Given the description of an element on the screen output the (x, y) to click on. 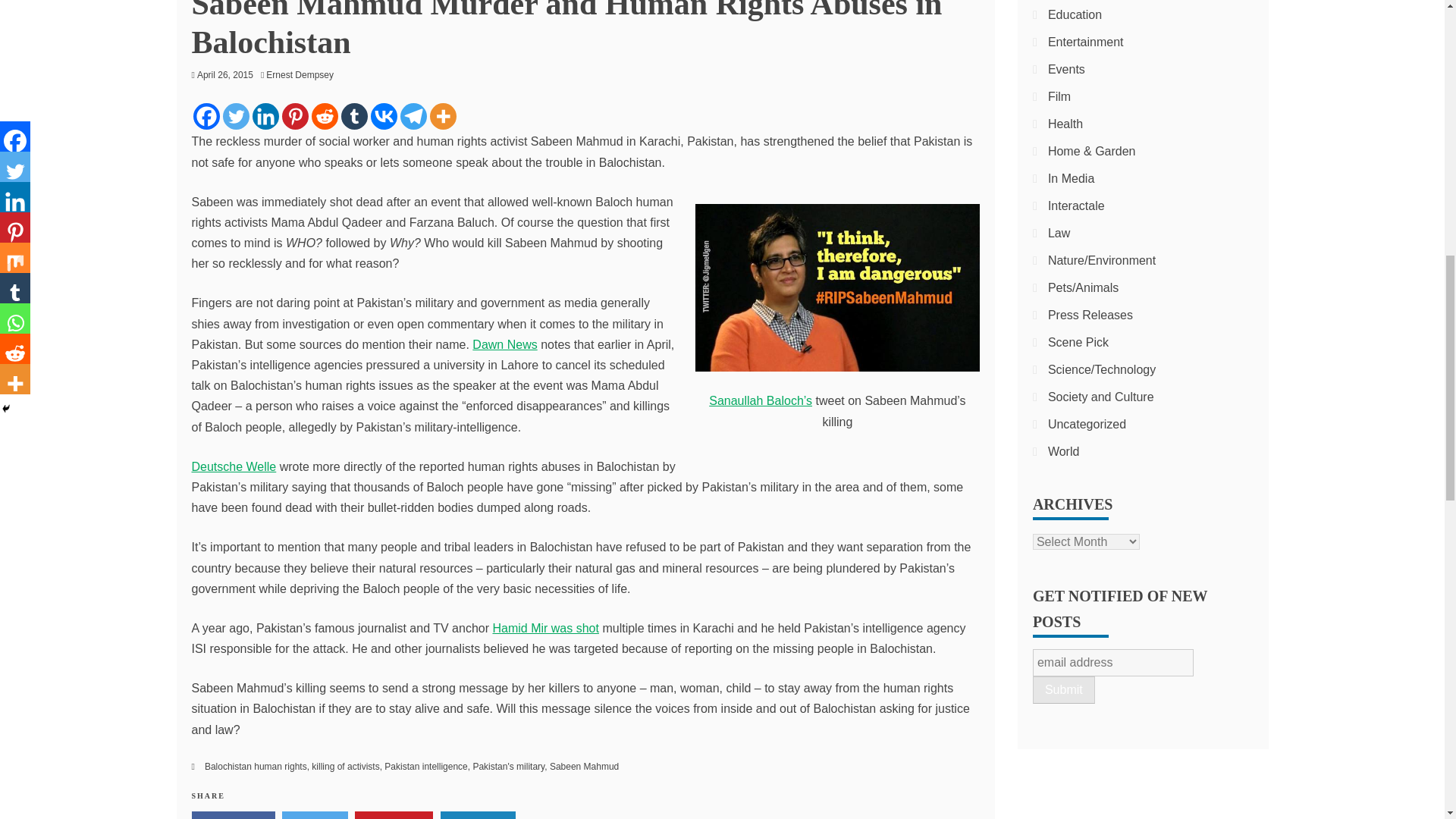
Facebook (205, 116)
Telegram (413, 116)
More (442, 116)
Vkontakte (382, 116)
Pinterest (295, 116)
Dawn News (504, 344)
Ernest Dempsey (303, 74)
Twitter (235, 116)
Reddit (324, 116)
Tumblr (354, 116)
Hamid Mir was shot (545, 627)
Submit (1063, 689)
April 26, 2015 (224, 74)
Deutsche Welle (233, 466)
Linkedin (264, 116)
